Given the description of an element on the screen output the (x, y) to click on. 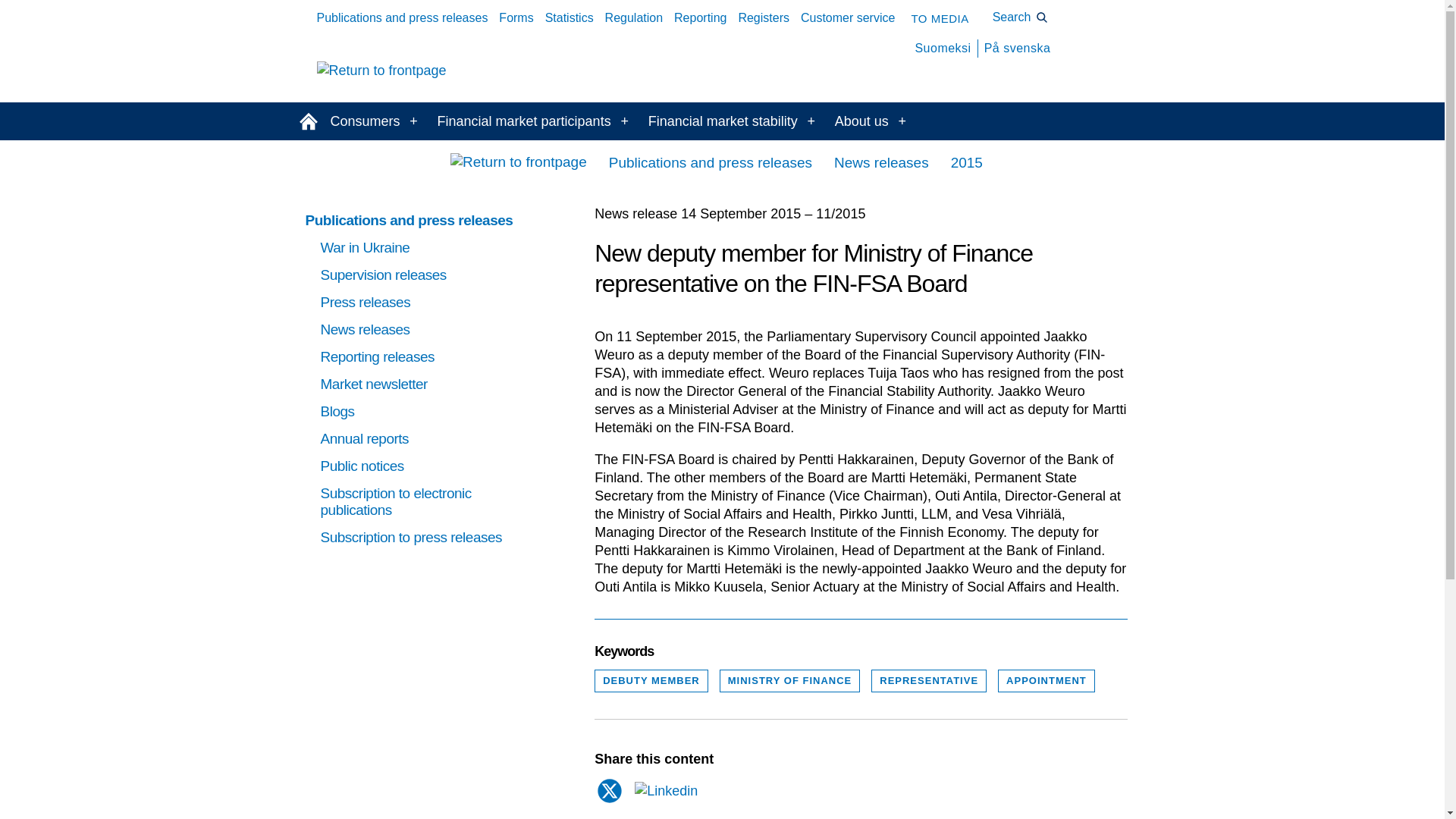
Registers (763, 17)
Regulation (634, 17)
Search (1021, 17)
Search (1021, 17)
Reporting (700, 17)
Publications and press releases (402, 17)
Open keyword search using term Representative (928, 680)
Customer service (847, 17)
Suomeksi (942, 47)
Statistics (569, 17)
Forms (515, 17)
Go to content (4, 4)
TO MEDIA (939, 18)
Consumers (359, 121)
Open keyword search using term appointment (1045, 680)
